Given the description of an element on the screen output the (x, y) to click on. 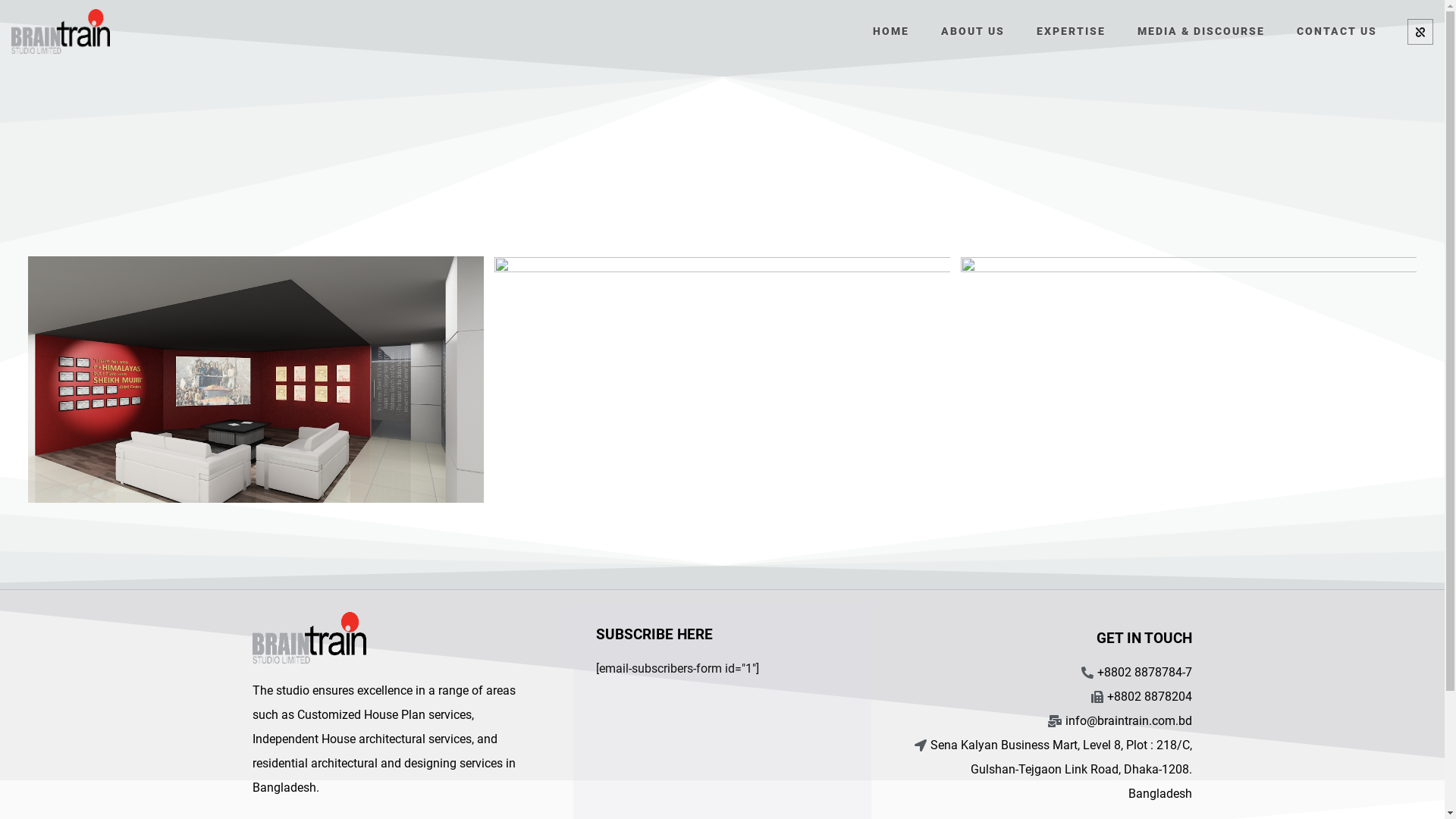
ABOUT US Element type: text (972, 29)
MEDIA & DISCOURSE Element type: text (1201, 29)
HOME Element type: text (890, 29)
EXPERTISE Element type: text (1071, 29)
CONTACT US Element type: text (1336, 29)
